Given the description of an element on the screen output the (x, y) to click on. 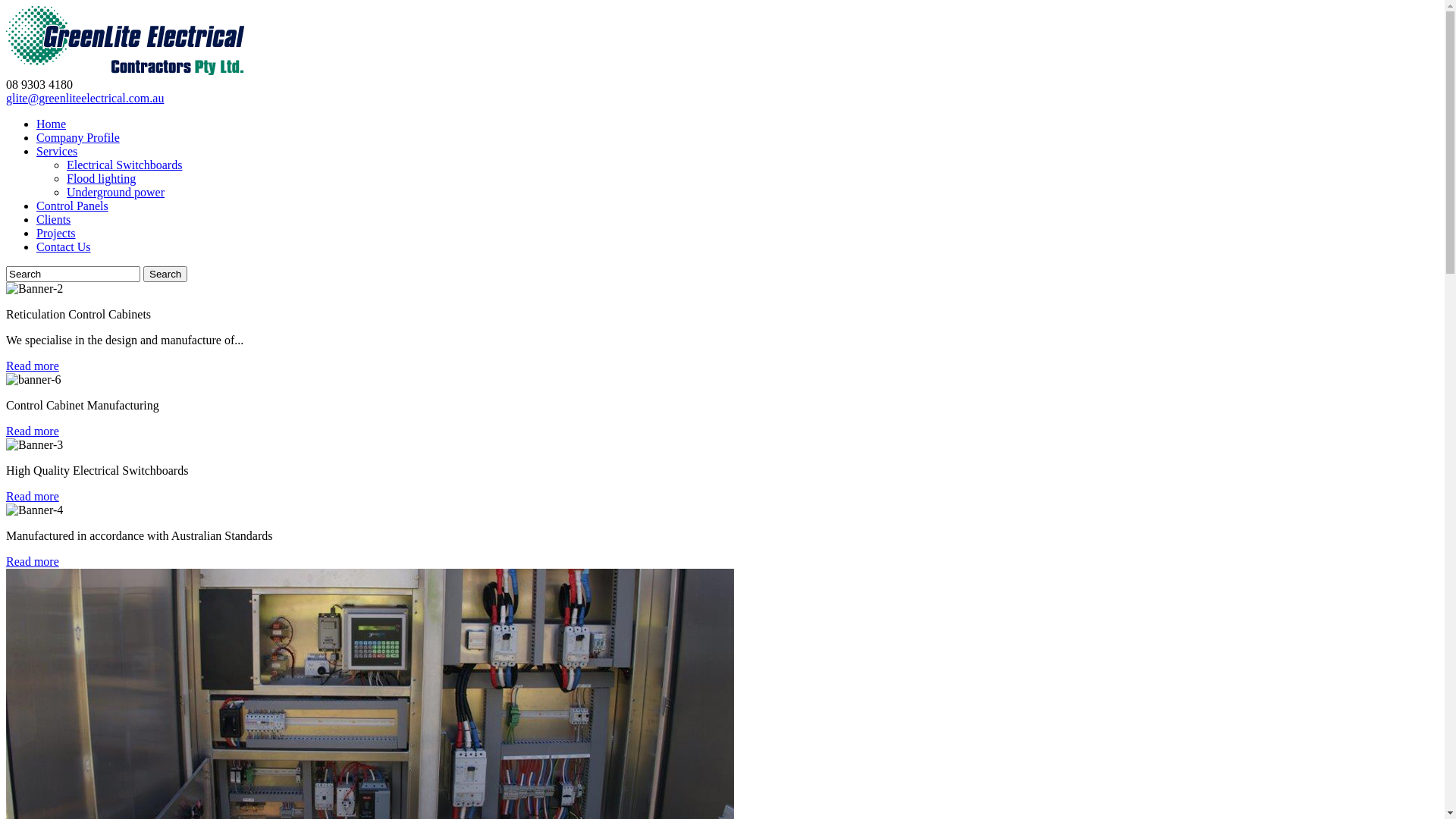
Home Element type: text (50, 123)
Clients Element type: text (53, 219)
Read more Element type: text (32, 365)
Greenlite Electrical Element type: hover (125, 40)
Read more Element type: text (32, 495)
Services Element type: text (56, 150)
Underground power Element type: text (115, 191)
Read more Element type: text (32, 561)
Greenlite Electrical Element type: hover (125, 70)
Projects Element type: text (55, 232)
Reticulation Control Cabinets Element type: hover (34, 288)
Control Cabinet Manufacturing Element type: hover (33, 379)
Company Profile Element type: text (77, 137)
Manufactured in accordance with Australian Standards Element type: hover (34, 510)
Flood lighting Element type: text (100, 178)
High Quality Electrical Switchboards Element type: hover (34, 444)
Contact Us Element type: text (63, 246)
Control Panels Element type: text (72, 205)
Read more Element type: text (32, 430)
glite@greenliteelectrical.com.au Element type: text (84, 97)
Search Element type: text (165, 274)
Electrical Switchboards Element type: text (124, 164)
